Given the description of an element on the screen output the (x, y) to click on. 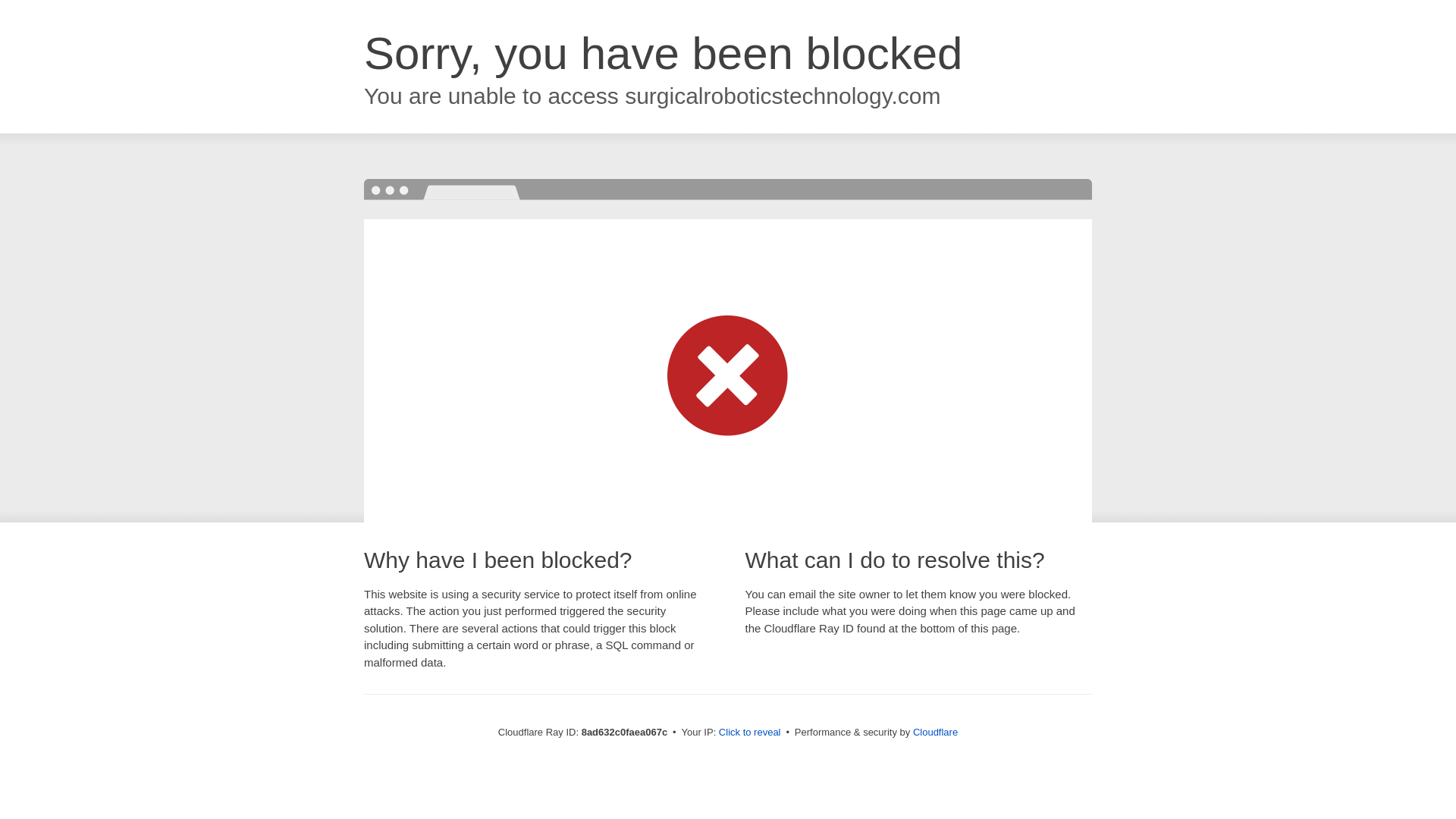
Click to reveal (749, 732)
Cloudflare (935, 731)
